Given the description of an element on the screen output the (x, y) to click on. 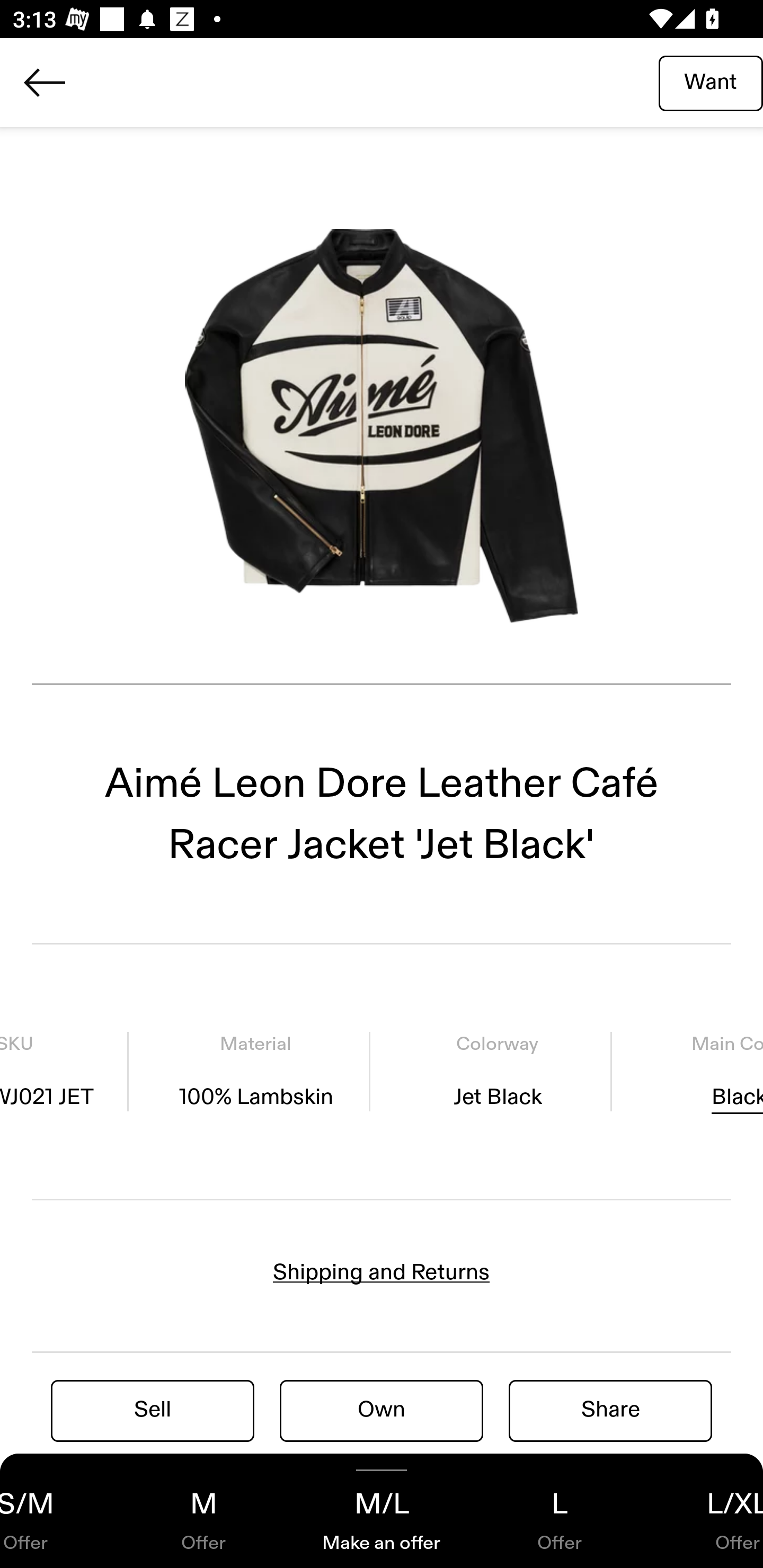
Want (710, 82)
Material 100% Lambskin (255, 1070)
Colorway Jet Black (497, 1070)
Shipping and Returns (381, 1272)
Sell (152, 1410)
Own (381, 1410)
Share (609, 1410)
S/M Offer (57, 1510)
M Offer (203, 1510)
M/L Make an offer (381, 1510)
L Offer (559, 1510)
L/XL Offer (705, 1510)
